Given the description of an element on the screen output the (x, y) to click on. 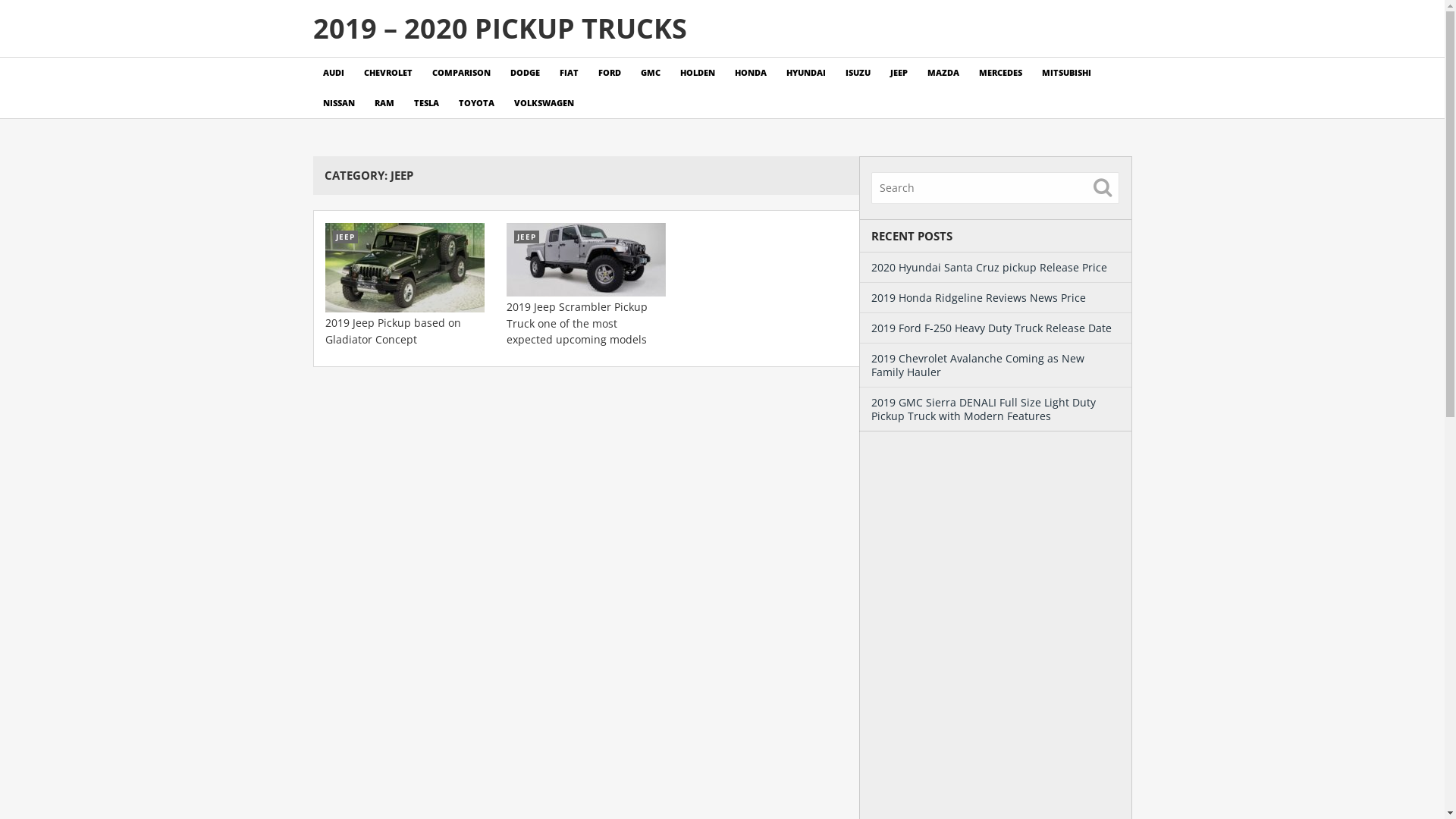
HONDA Element type: text (750, 72)
MAZDA Element type: text (943, 72)
TOYOTA Element type: text (476, 102)
CHEVROLET Element type: text (387, 72)
2019 Jeep Pickup based on Gladiator Concept Element type: text (392, 330)
2019 Ford F-250 Heavy Duty Truck Release Date Element type: text (990, 327)
JEEP Element type: text (403, 267)
MERCEDES Element type: text (1000, 72)
JEEP Element type: text (585, 259)
2020 Hyundai Santa Cruz pickup Release Price Element type: text (988, 267)
VOLKSWAGEN Element type: text (543, 102)
MITSUBISHI Element type: text (1065, 72)
FIAT Element type: text (568, 72)
HYUNDAI Element type: text (805, 72)
JEEP Element type: text (897, 72)
GMC Element type: text (650, 72)
HOLDEN Element type: text (697, 72)
2019 Honda Ridgeline Reviews News Price Element type: text (977, 297)
ISUZU Element type: text (857, 72)
AUDI Element type: text (332, 72)
FORD Element type: text (609, 72)
COMPARISON Element type: text (460, 72)
RAM Element type: text (383, 102)
TESLA Element type: text (425, 102)
NISSAN Element type: text (338, 102)
DODGE Element type: text (524, 72)
2019 Chevrolet Avalanche Coming as New Family Hauler Element type: text (976, 365)
